Given the description of an element on the screen output the (x, y) to click on. 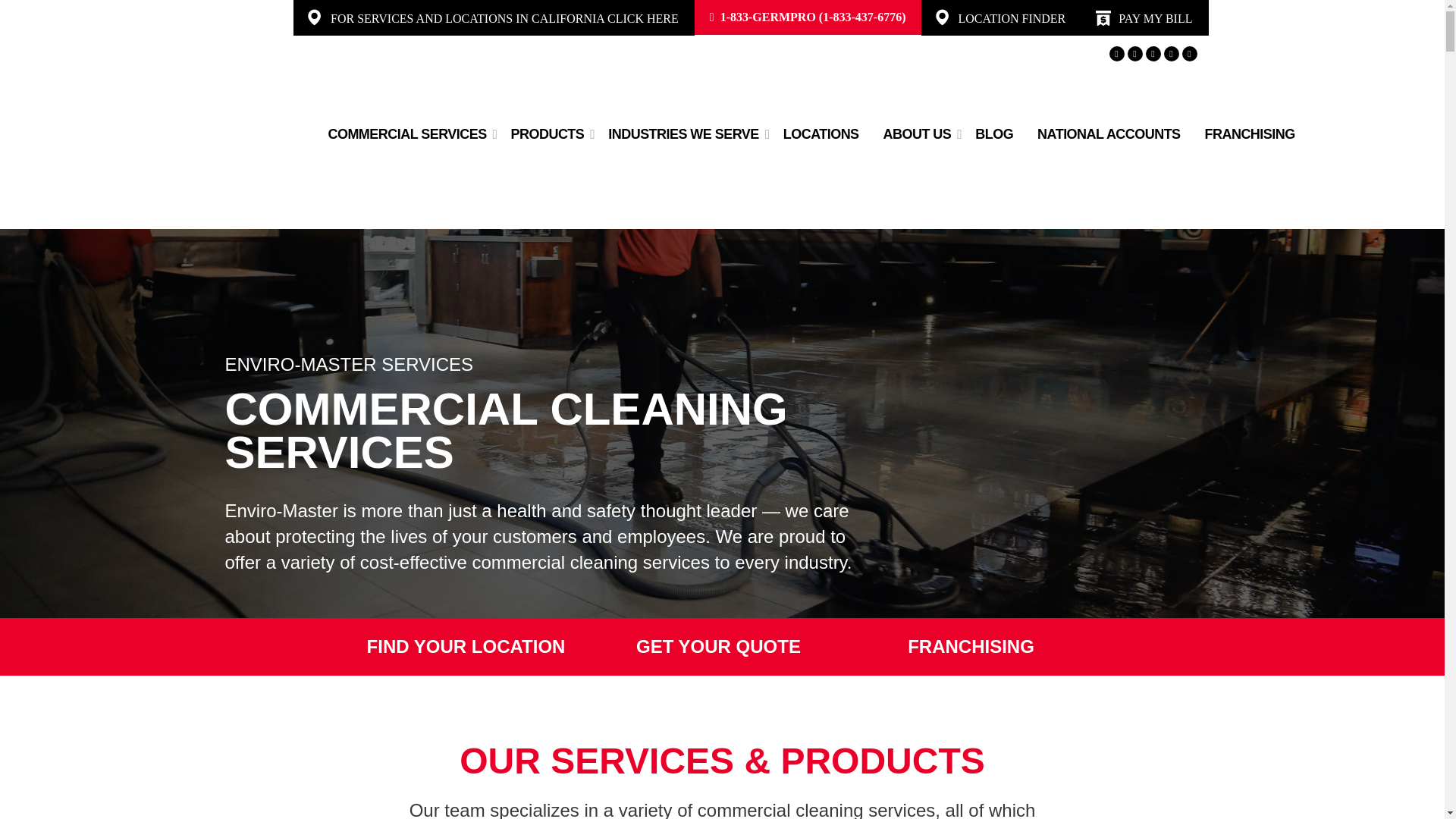
FOR SERVICES AND LOCATIONS IN CALIFORNIA CLICK HERE (504, 18)
Commercial Services (406, 134)
INDUSTRIES WE SERVE (682, 134)
PRODUCTS (547, 134)
LOCATION FINDER (1011, 18)
Products (547, 134)
PAY MY BILL (1155, 18)
COMMERCIAL SERVICES (406, 134)
